Given the description of an element on the screen output the (x, y) to click on. 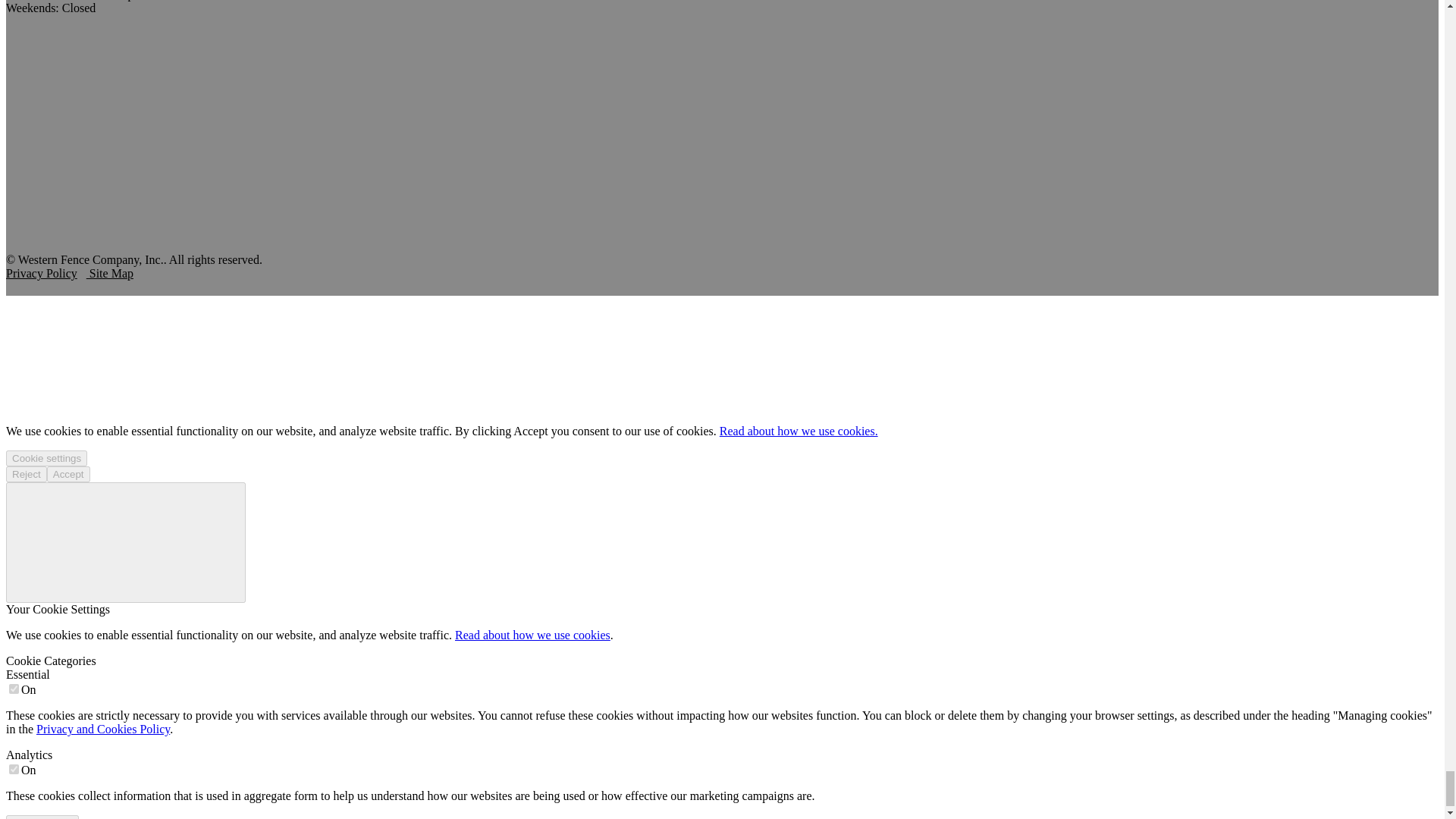
on (13, 768)
Cookie settings (46, 458)
Accept (68, 474)
on (13, 688)
Read about how we use cookies. (798, 431)
Reject (25, 474)
Privacy Policy (41, 273)
Read about how we use cookies (532, 634)
Privacy and Cookies Policy (103, 728)
 Site Map (109, 273)
